Given the description of an element on the screen output the (x, y) to click on. 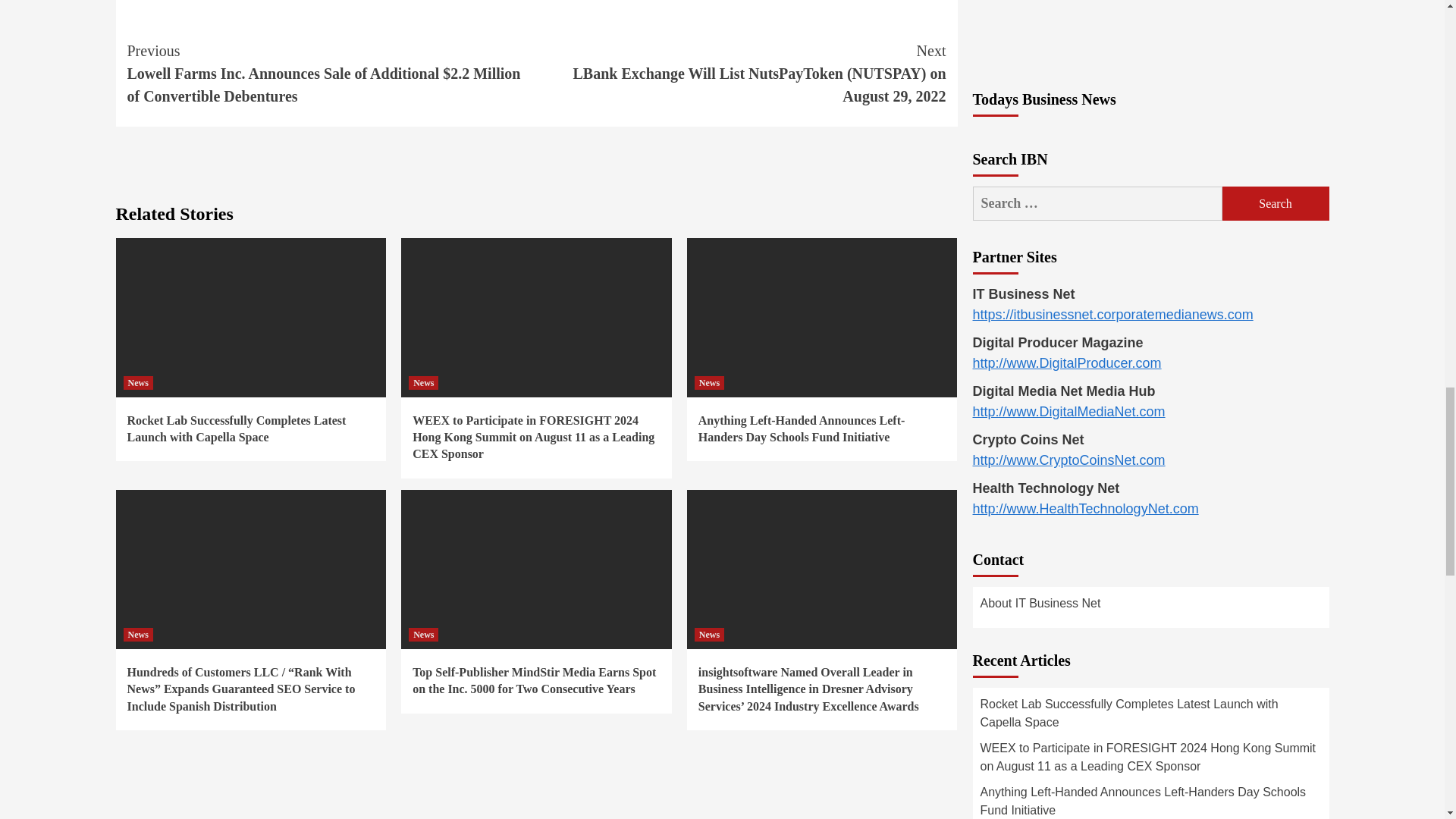
News (137, 382)
Search (1276, 203)
Search (1276, 203)
